Given the description of an element on the screen output the (x, y) to click on. 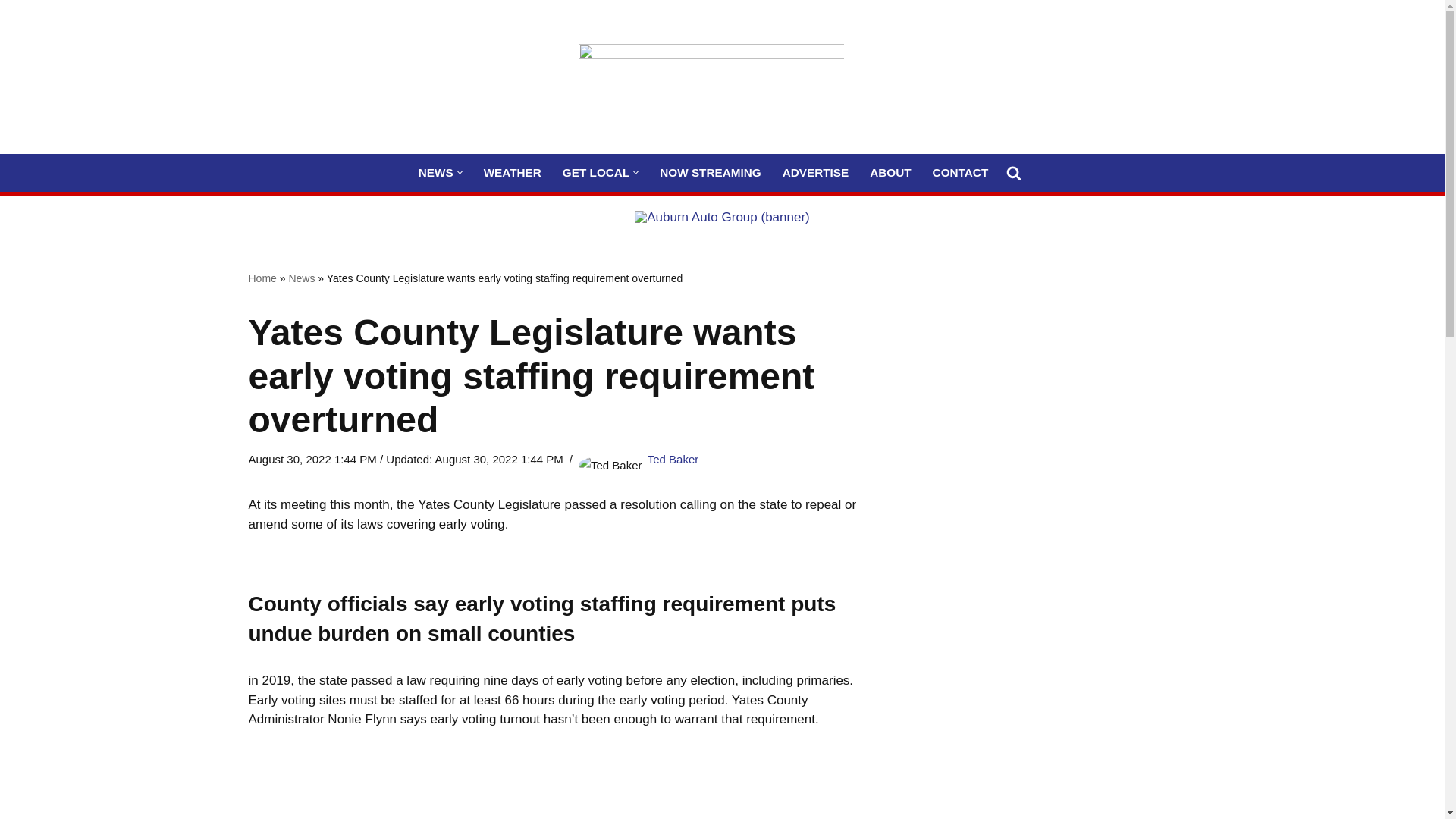
ABOUT (890, 171)
Skip to content (11, 31)
GET LOCAL (595, 171)
CONTACT (960, 171)
Posts by Ted Baker (672, 459)
WEATHER (512, 171)
ADVERTISE (815, 171)
NOW STREAMING (709, 171)
NEWS (435, 171)
